Given the description of an element on the screen output the (x, y) to click on. 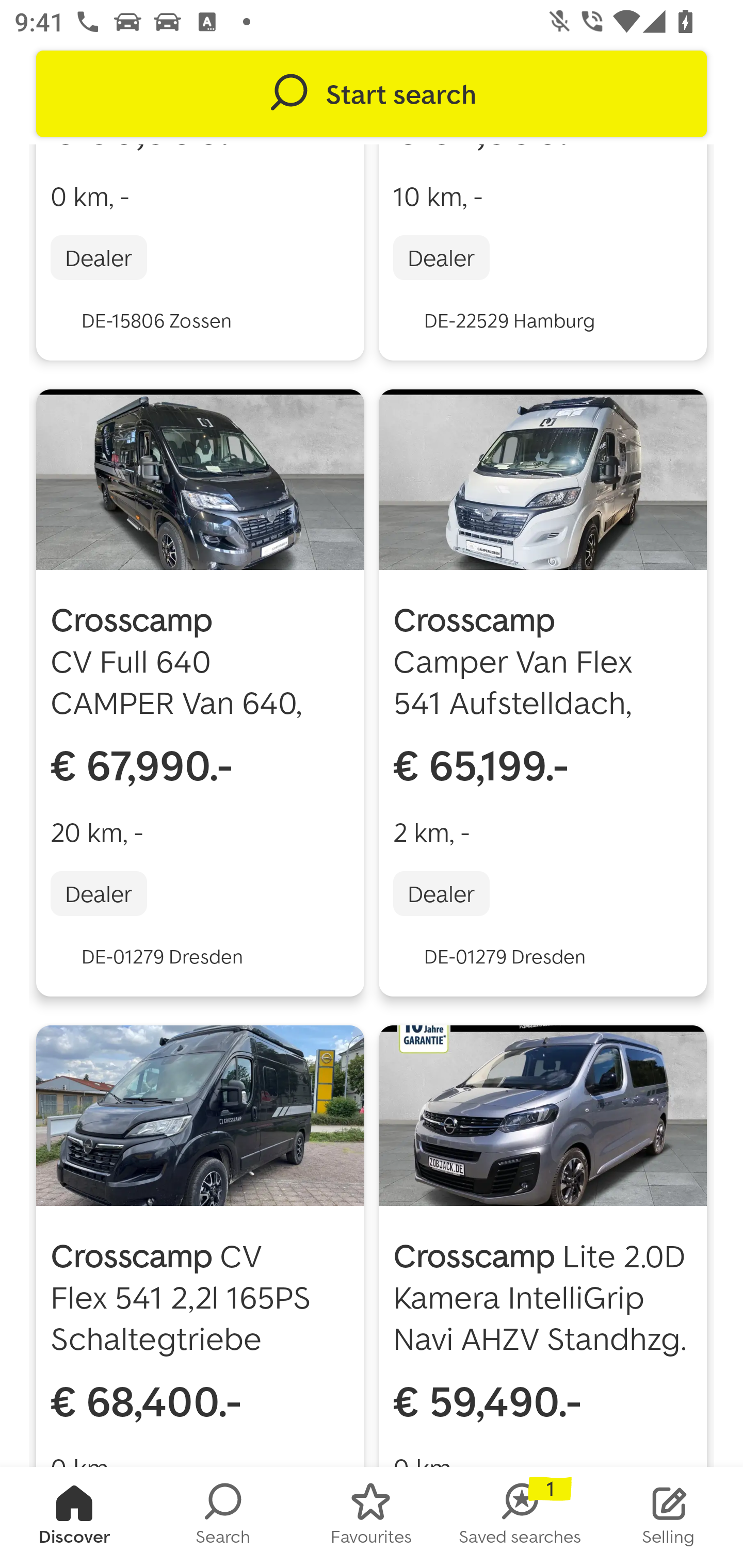
Start search (371, 93)
HOMESCREEN Discover (74, 1517)
SEARCH Search (222, 1517)
FAVORITES Favourites (371, 1517)
SAVED_SEARCHES Saved searches 1 (519, 1517)
STOCK_LIST Selling (668, 1517)
